Given the description of an element on the screen output the (x, y) to click on. 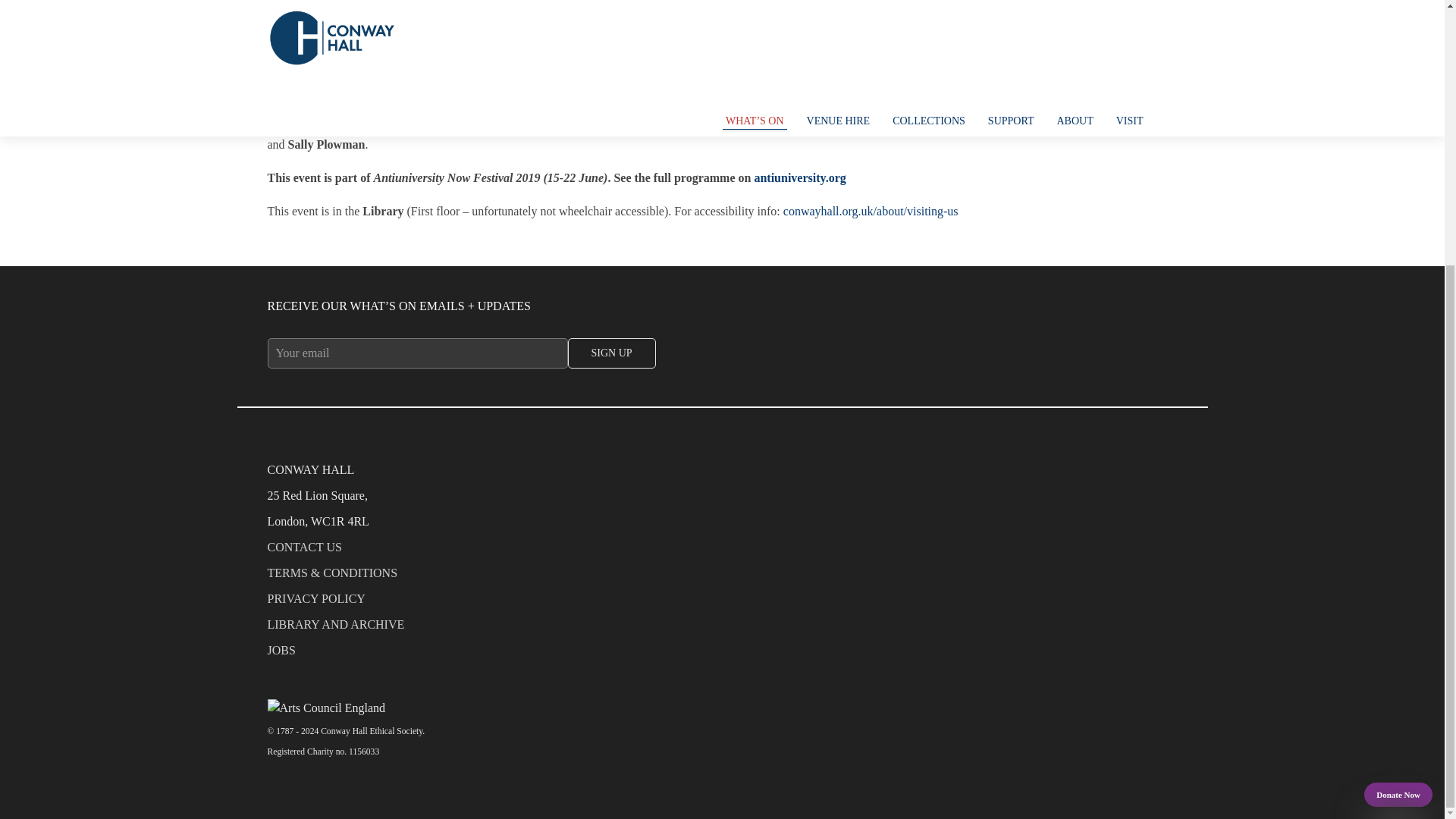
JOBS (721, 654)
PRIVACY POLICY (721, 602)
Sign Up (611, 353)
CONTACT US (721, 551)
LIBRARY AND ARCHIVE (721, 628)
Donate Now (1398, 410)
Sign Up (611, 353)
antiuniversity.org (799, 177)
